Given the description of an element on the screen output the (x, y) to click on. 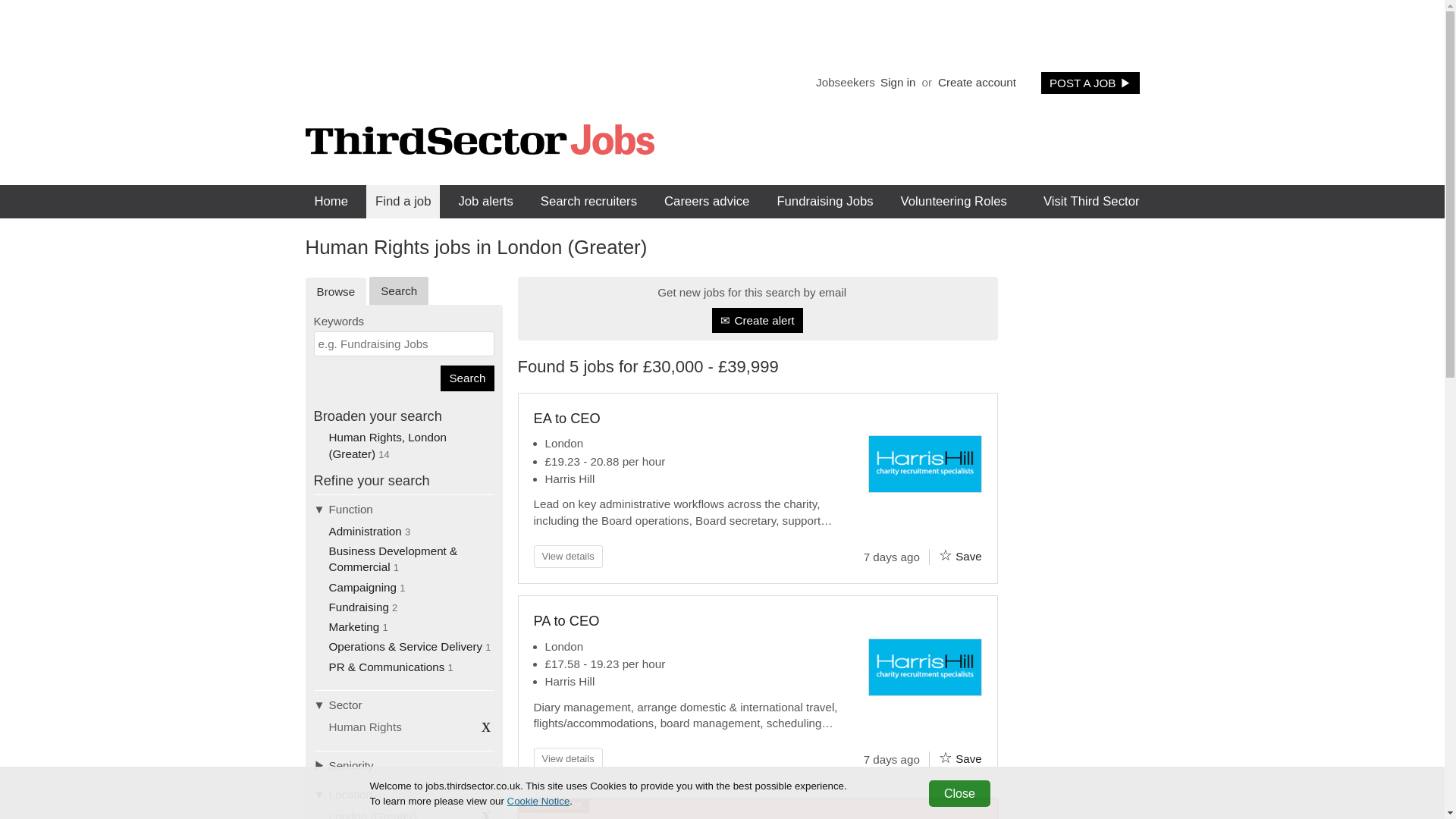
Search recruiters (588, 201)
Fundraising (358, 606)
Campaigning (363, 586)
Find a job (402, 201)
Fundraising Jobs (824, 201)
POST A JOB (1090, 83)
Administration (365, 530)
Search (398, 290)
Home (330, 201)
Marketing (354, 626)
Sign in (897, 82)
Browse (335, 291)
Visit Third Sector (1091, 201)
Create account (976, 82)
